Given the description of an element on the screen output the (x, y) to click on. 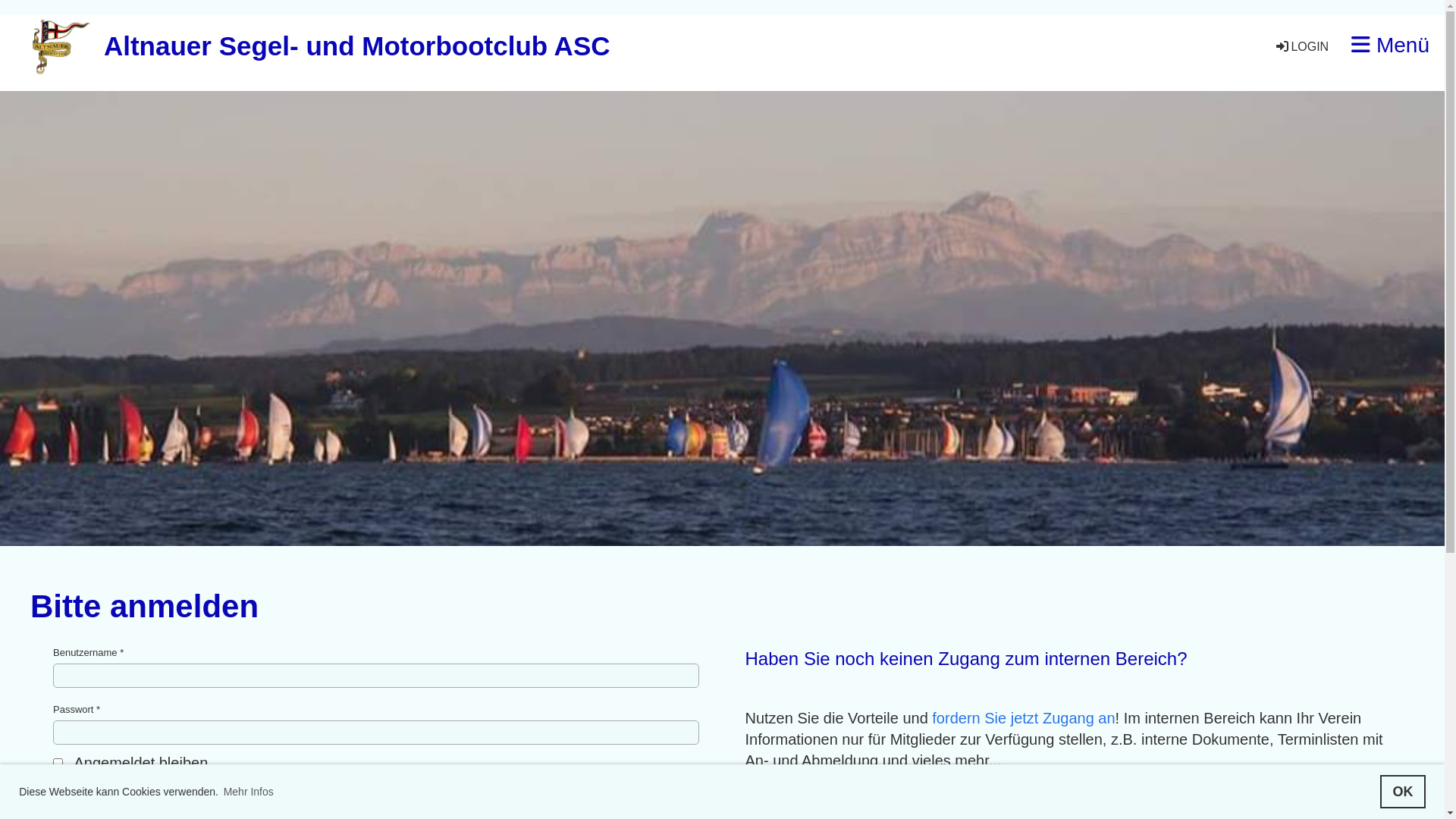
LOGIN Element type: text (1301, 46)
OK Element type: text (1402, 791)
fordern Sie jetzt Zugang an Element type: text (1022, 717)
Mehr Infos Element type: text (248, 791)
Altnauer Segel- und Motorbootclub ASC Element type: text (356, 45)
